Given the description of an element on the screen output the (x, y) to click on. 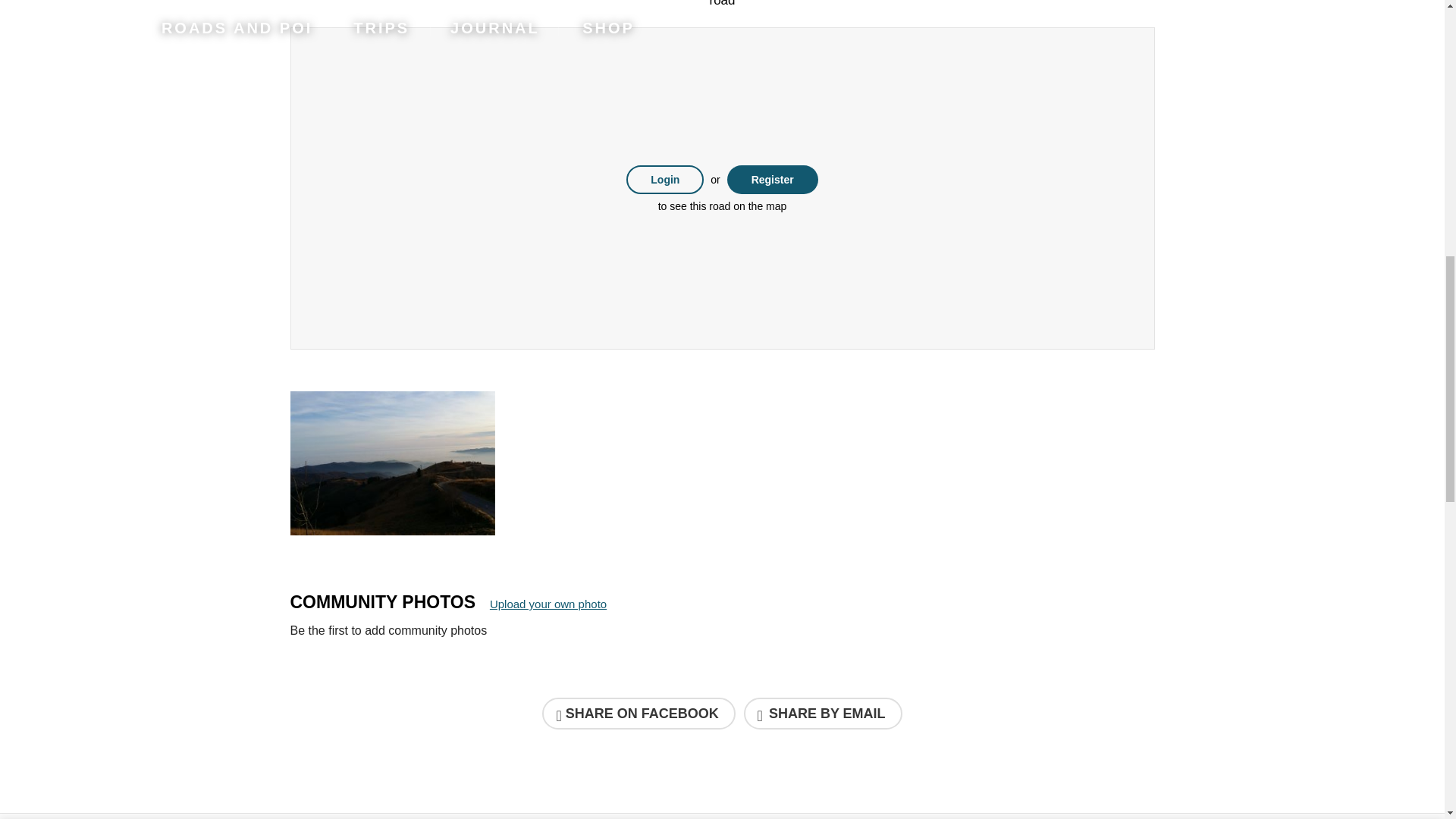
Upload your own photo (548, 603)
Share on Facebook (638, 713)
Share by email (823, 713)
SHARE BY EMAIL (823, 713)
Register (772, 179)
Login (664, 179)
SHARE ON FACEBOOK (638, 713)
